Given the description of an element on the screen output the (x, y) to click on. 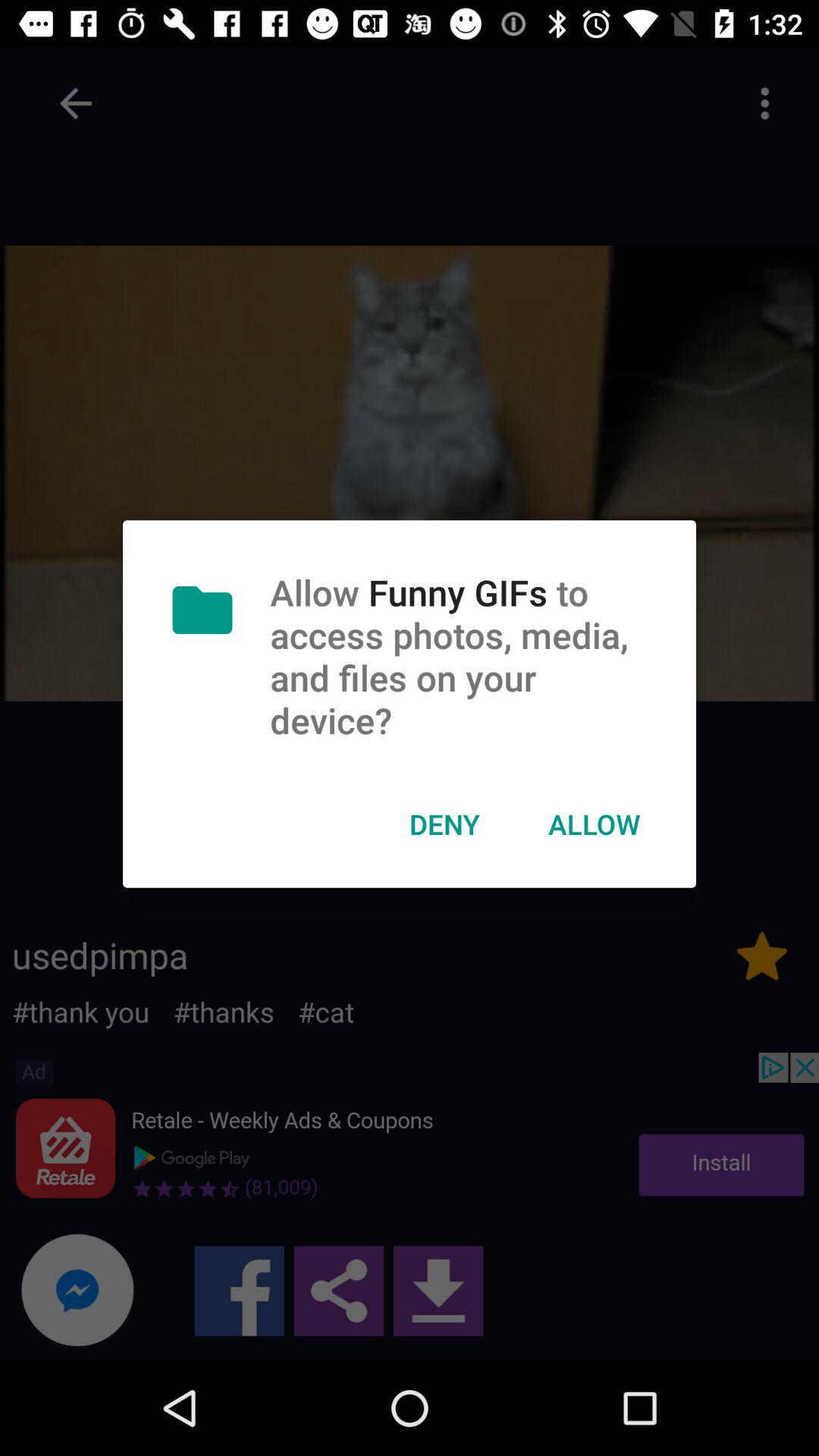
rating option (762, 956)
